Given the description of an element on the screen output the (x, y) to click on. 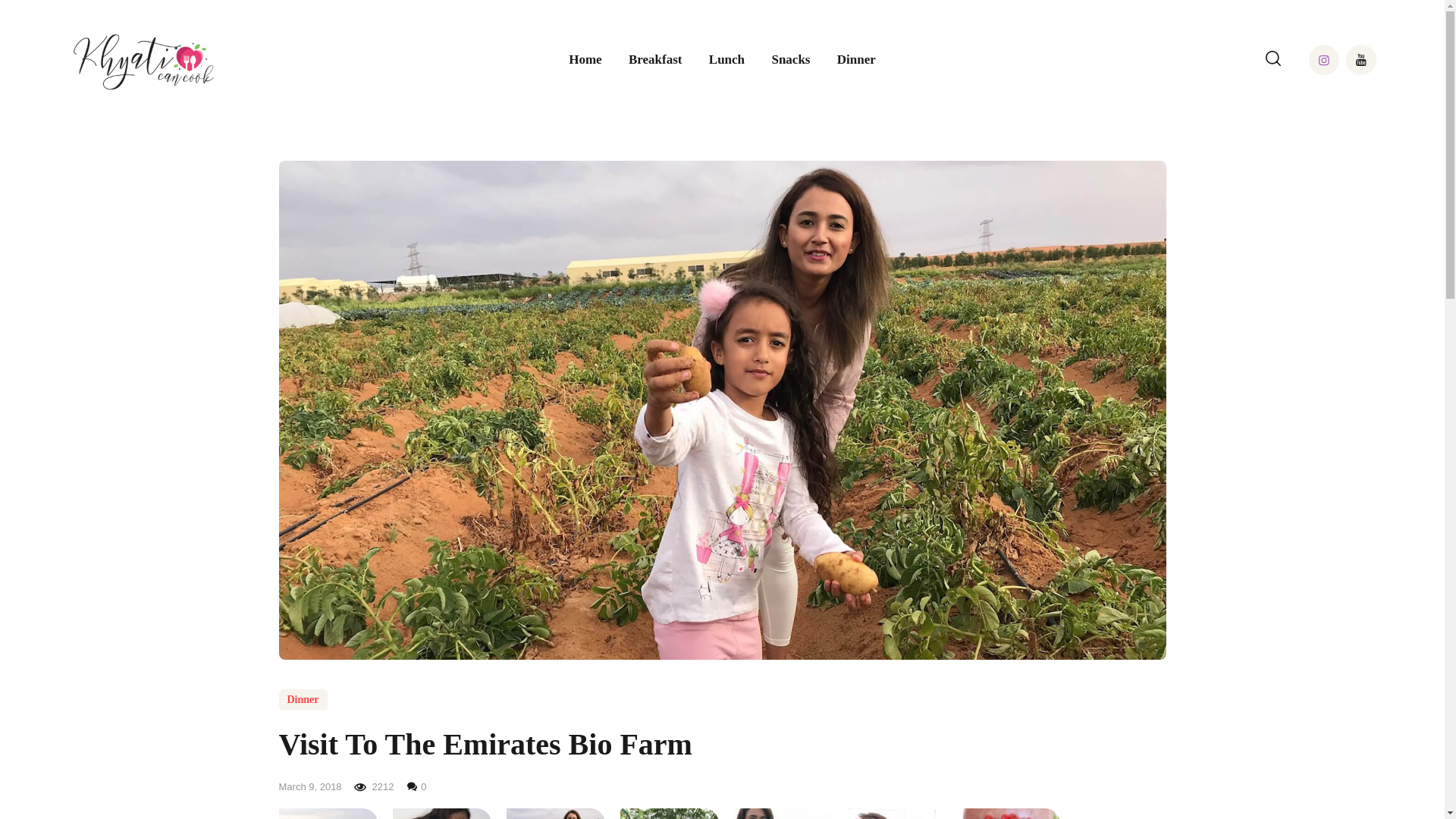
Snacks (791, 60)
Dinner (303, 699)
Emirates Bio Farm (669, 813)
Lunch (726, 60)
Dinner (856, 60)
Emirates Bio Farm (782, 813)
Emirates Bio Farm (328, 813)
Home (585, 60)
Emirates Bio Farm (896, 813)
Emirates Bio Farm (442, 813)
Breakfast (654, 60)
Emirates Bio Farm (555, 813)
Emirates Bio Farm (1009, 813)
0 (416, 786)
